Given the description of an element on the screen output the (x, y) to click on. 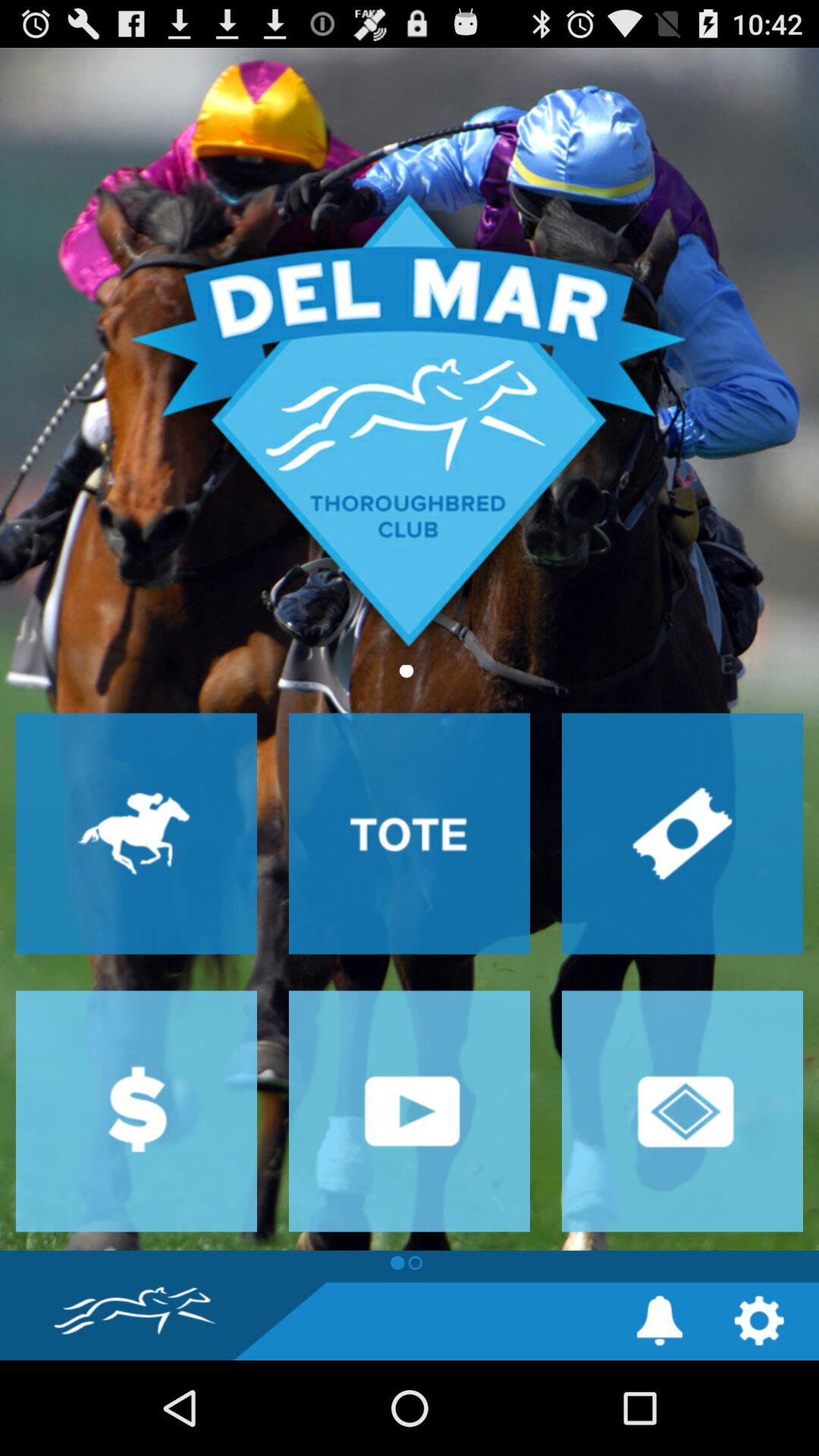
racing info (136, 833)
